Given the description of an element on the screen output the (x, y) to click on. 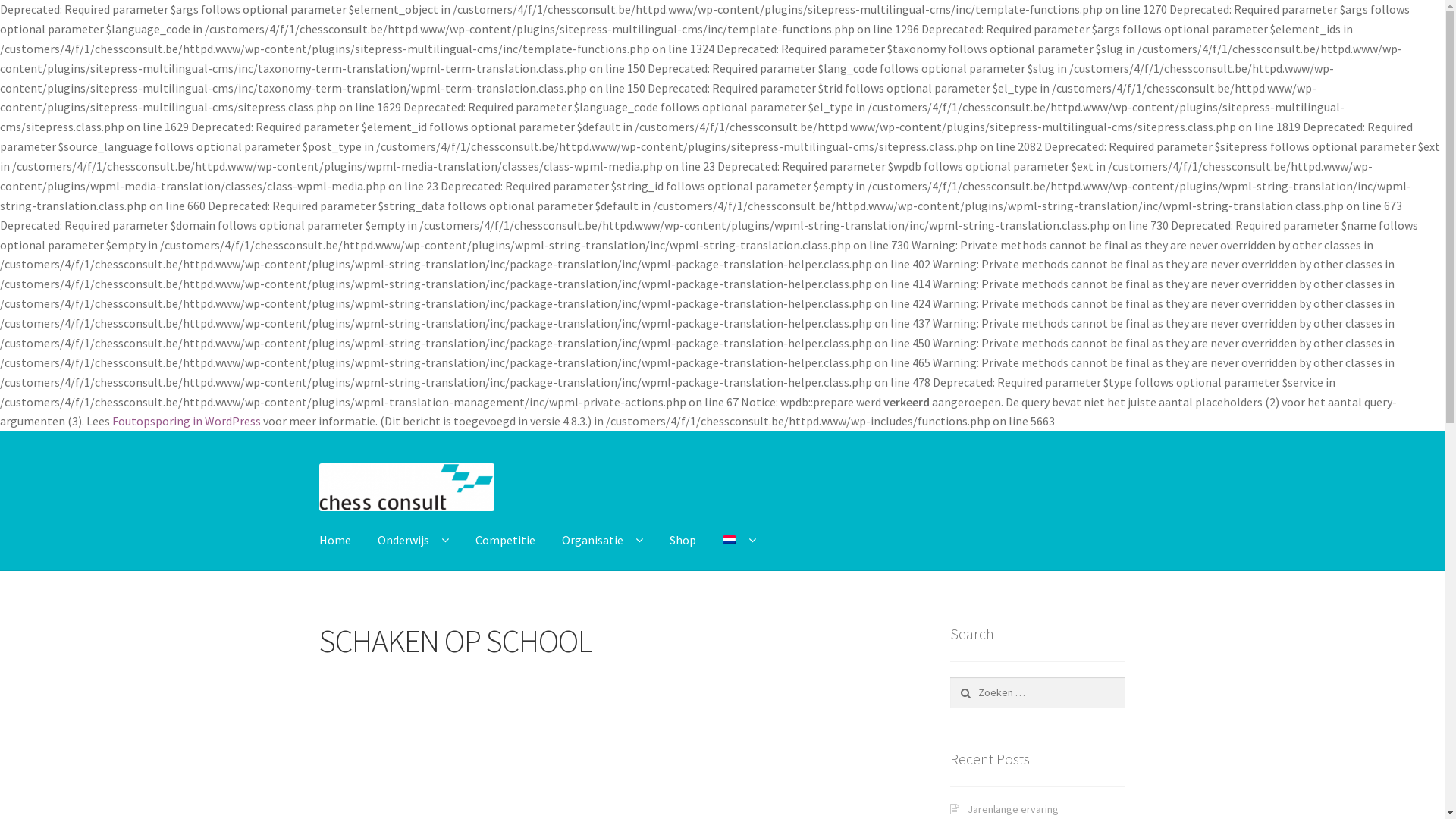
Jarenlange ervaring Element type: text (1012, 808)
Zoeken Element type: text (982, 692)
Competitie Element type: text (505, 540)
Foutopsporing in WordPress Element type: text (186, 420)
Nederlands Element type: hover (729, 539)
Ga door naar navigatie Element type: text (318, 462)
Shop Element type: text (682, 540)
Home Element type: text (335, 540)
Organisatie Element type: text (602, 540)
Onderwijs Element type: text (413, 540)
